Given the description of an element on the screen output the (x, y) to click on. 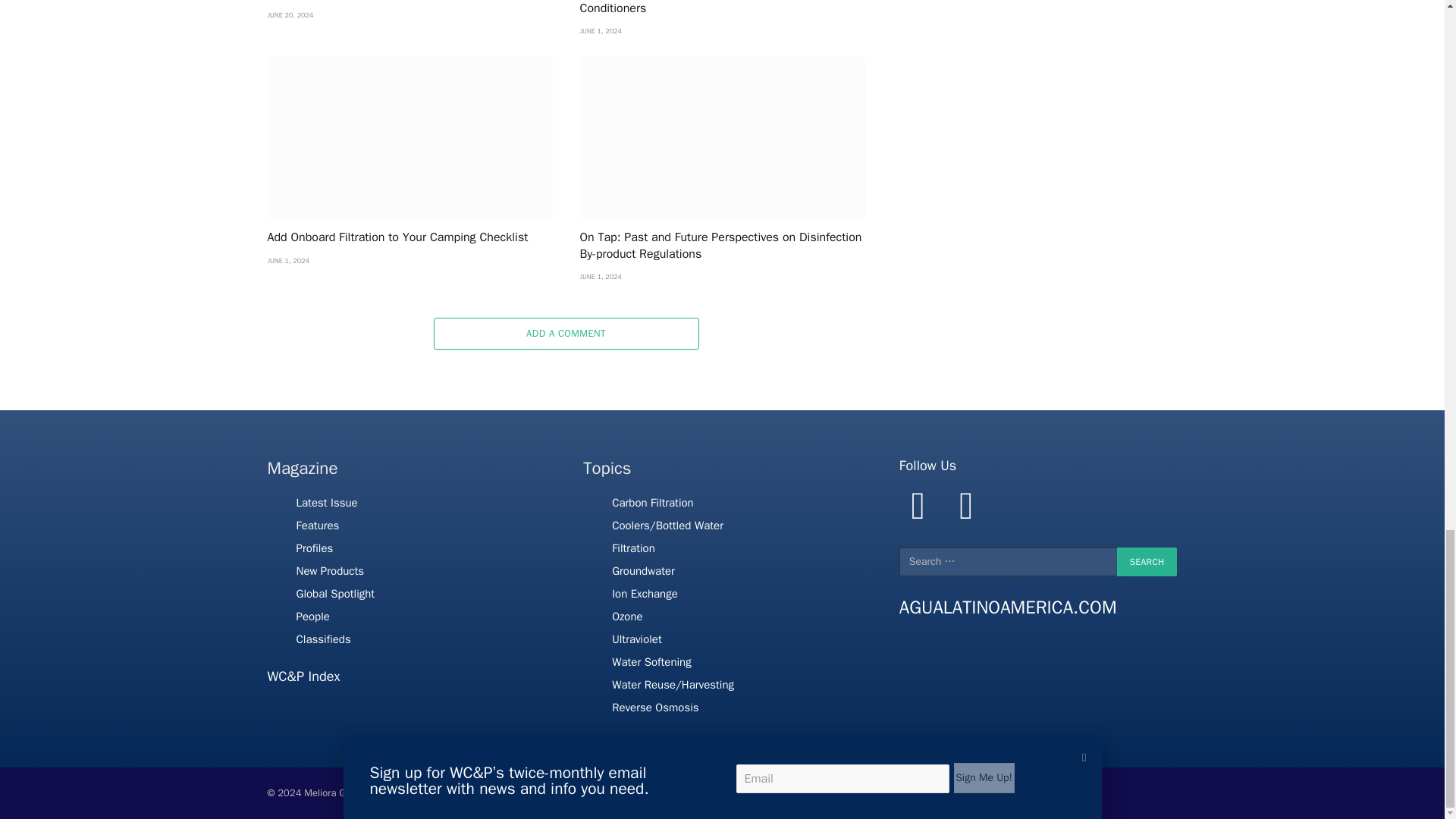
Search (1146, 561)
Search (1146, 561)
